Given the description of an element on the screen output the (x, y) to click on. 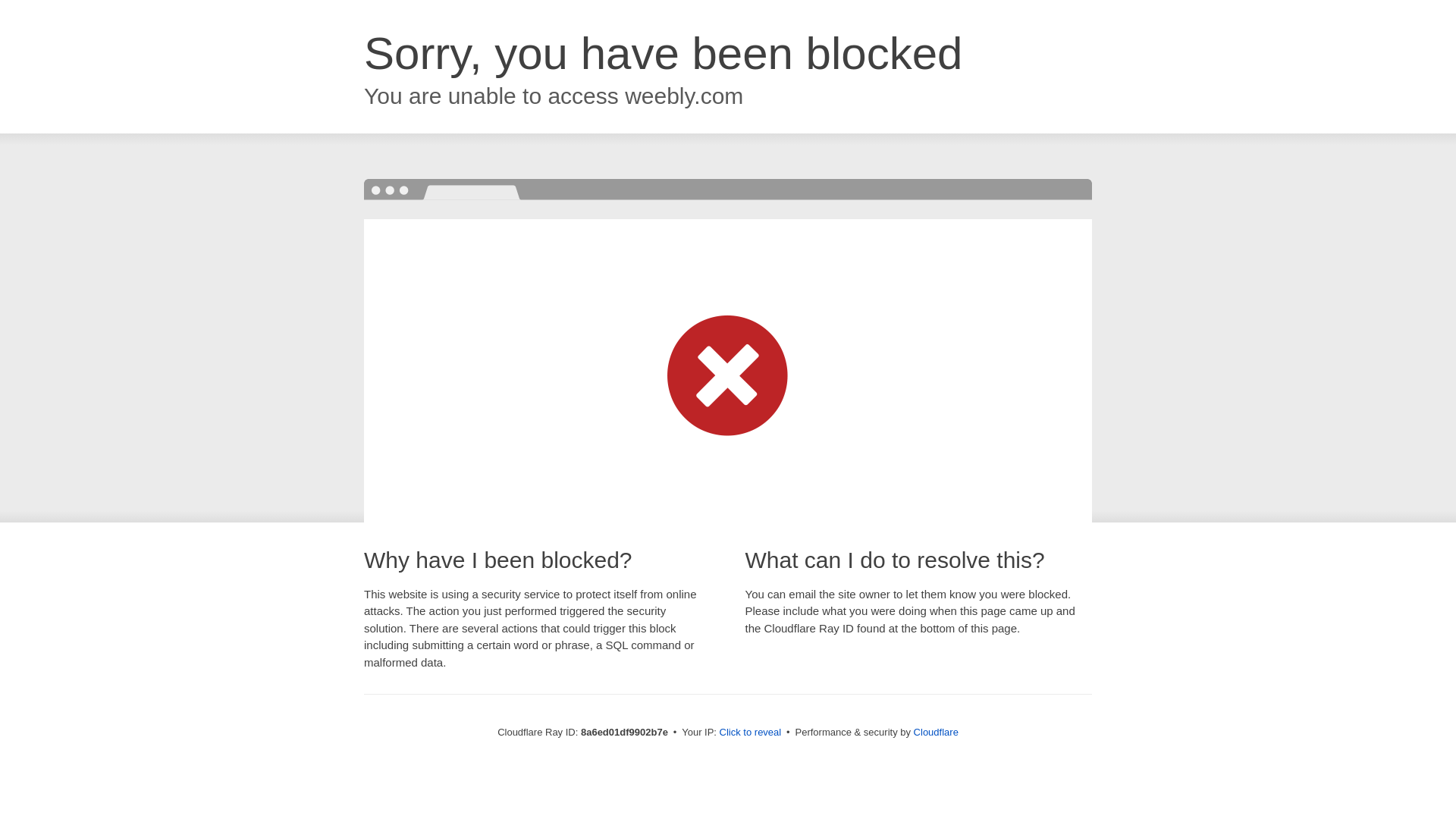
Cloudflare (936, 731)
Click to reveal (750, 732)
